Given the description of an element on the screen output the (x, y) to click on. 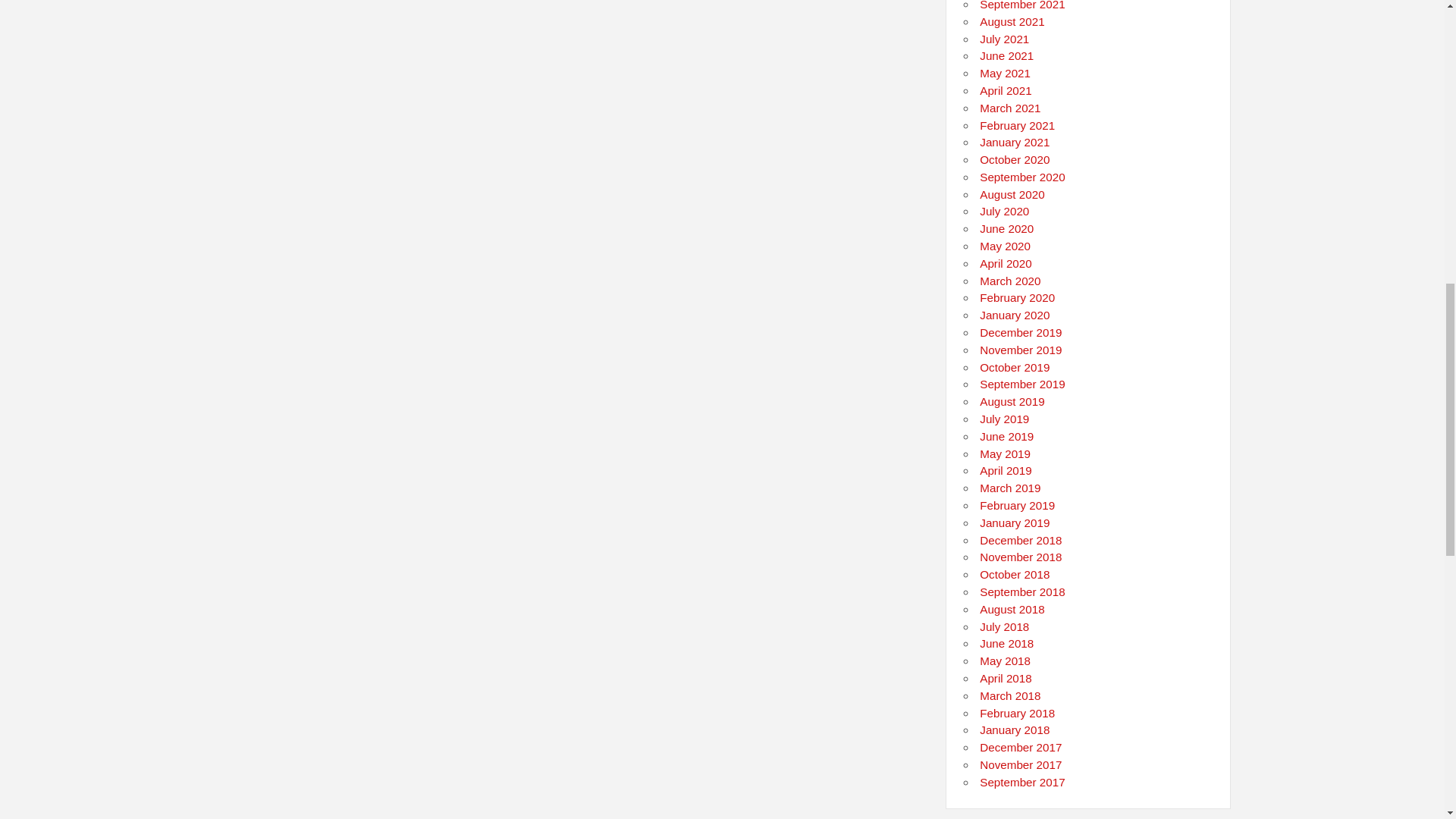
July 2021 (1004, 38)
September 2021 (1021, 5)
August 2021 (1011, 21)
June 2021 (1006, 55)
May 2021 (1004, 72)
April 2021 (1004, 90)
